Given the description of an element on the screen output the (x, y) to click on. 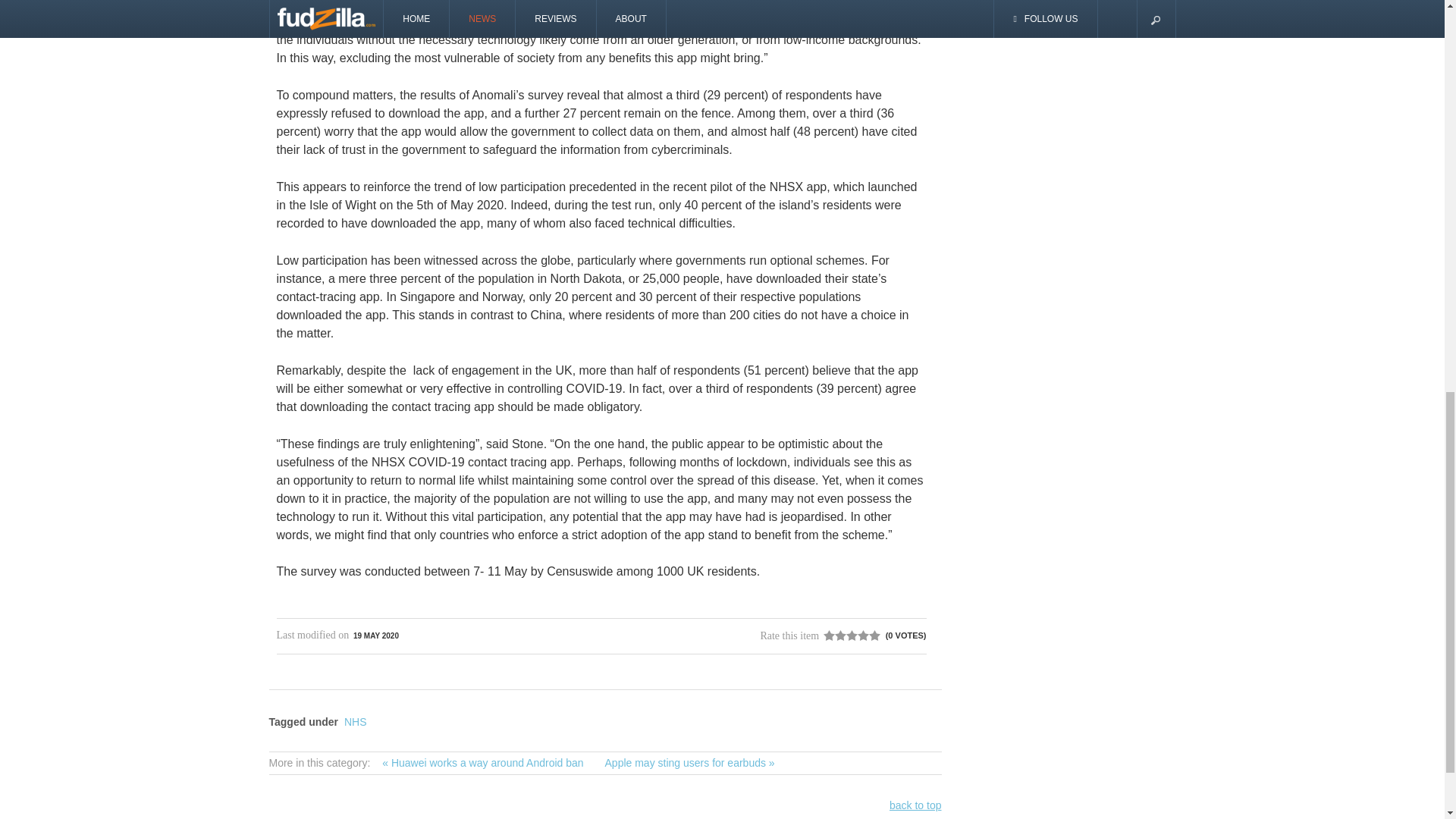
2 (834, 634)
3 stars out of 5 (840, 634)
4 stars out of 5 (846, 634)
5 (852, 634)
back to top (915, 805)
1 star out of 5 (829, 634)
3 (840, 634)
2 stars out of 5 (834, 634)
NHS (354, 721)
5 stars out of 5 (852, 634)
1 (829, 634)
4 (846, 634)
